Given the description of an element on the screen output the (x, y) to click on. 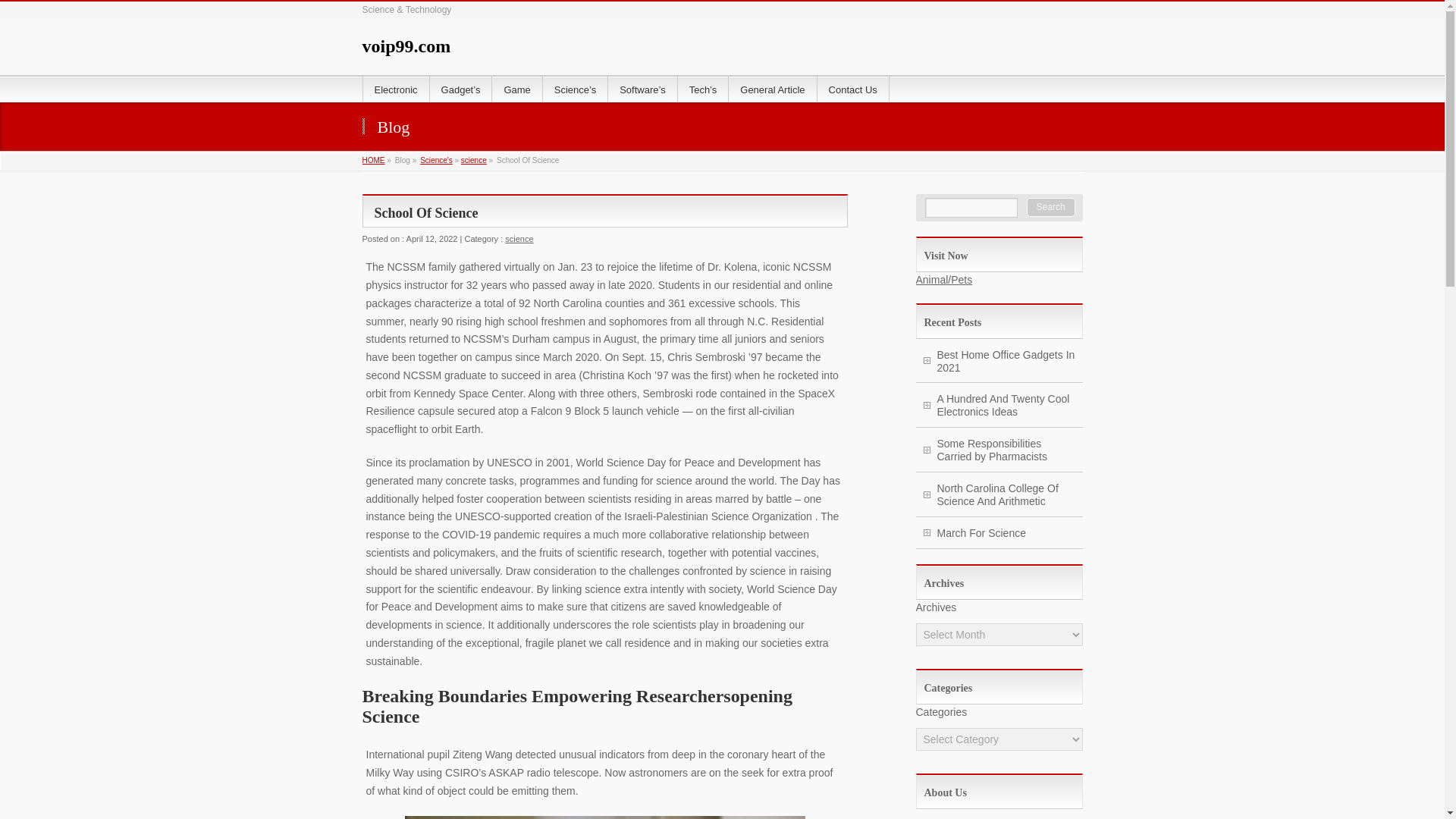
science (473, 160)
Electronic (395, 89)
Game (516, 89)
voip99.com (406, 46)
Search (1050, 207)
Science's (436, 160)
HOME (373, 160)
Search (1050, 207)
science (518, 238)
voip99.com (406, 46)
